Given the description of an element on the screen output the (x, y) to click on. 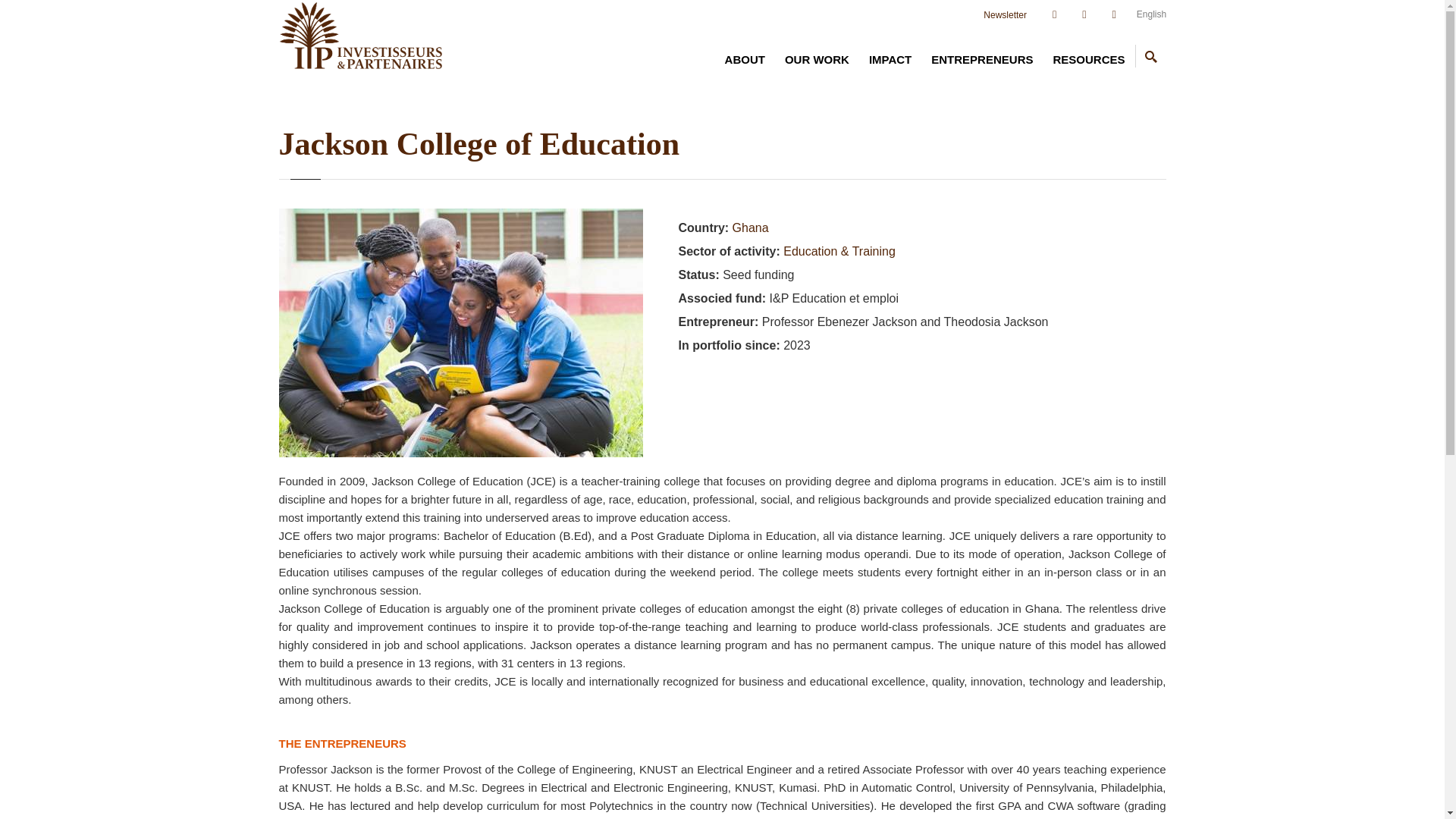
ENTREPRENEURS (981, 60)
OUR WORK (816, 60)
RESOURCES (1088, 60)
Newsletter (1005, 15)
ABOUT (744, 60)
IMPACT (890, 60)
